Given the description of an element on the screen output the (x, y) to click on. 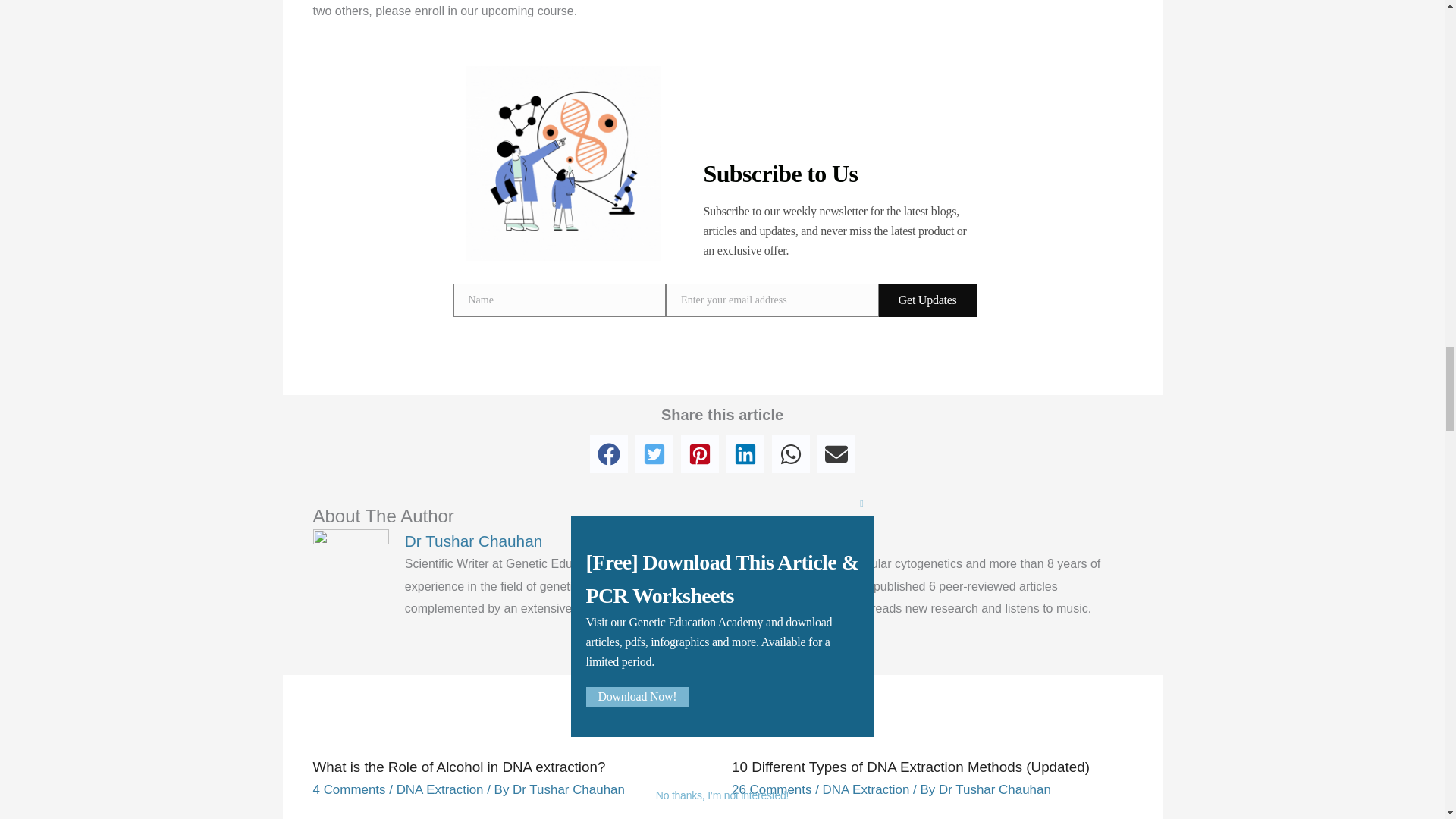
Dr Tushar Chauhan (568, 789)
4 Comments (349, 789)
DNA Extraction (439, 789)
What is the Role of Alcohol in DNA extraction? (459, 766)
Dr Tushar Chauhan (995, 789)
Dr Tushar Chauhan (768, 540)
View all posts by Dr Tushar Chauhan (995, 789)
26 Comments (771, 789)
Get Updates (927, 299)
DNA Extraction (866, 789)
View all posts by Dr Tushar Chauhan (568, 789)
